Given the description of an element on the screen output the (x, y) to click on. 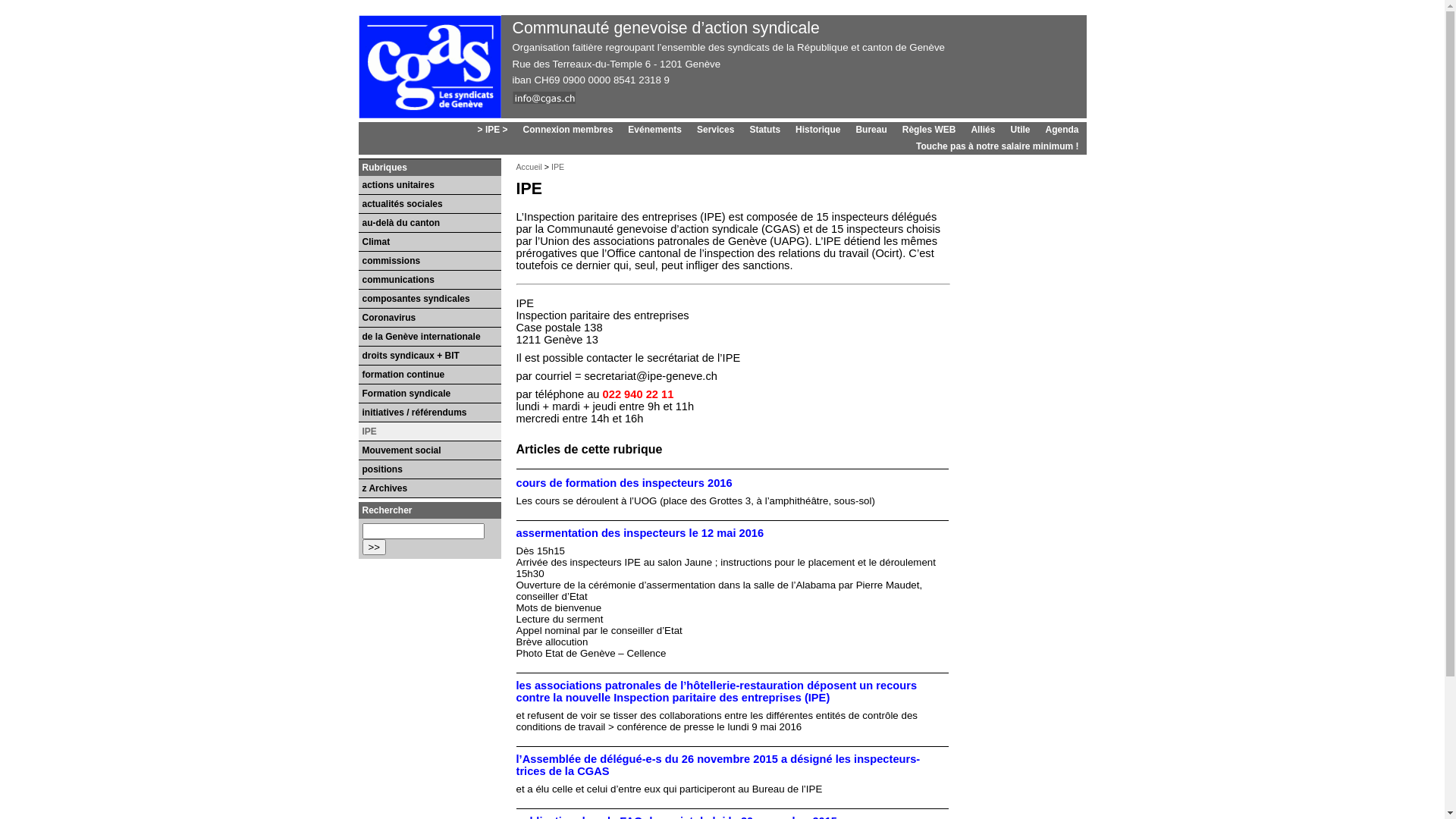
IPE Element type: text (557, 166)
actions unitaires Element type: text (428, 184)
Bureau Element type: text (870, 130)
positions Element type: text (428, 469)
Climat Element type: text (428, 241)
Historique Element type: text (817, 130)
> IPE > Element type: text (492, 130)
Mouvement social Element type: text (428, 450)
>> Element type: text (374, 547)
Rechercher Element type: hover (374, 547)
cours de formation des inspecteurs 2016 Element type: text (623, 482)
Statuts Element type: text (764, 130)
z Archives Element type: text (428, 488)
commissions Element type: text (428, 260)
Formation syndicale Element type: text (428, 393)
IPE Element type: text (428, 431)
Utile Element type: text (1019, 130)
Services Element type: text (715, 130)
Coronavirus Element type: text (428, 317)
communications Element type: text (428, 279)
droits syndicaux + BIT Element type: text (428, 355)
Accueil Element type: text (528, 166)
Connexion membres Element type: text (568, 130)
assermentation des inspecteurs le 12 mai 2016 Element type: text (639, 533)
composantes syndicales Element type: text (428, 298)
Agenda Element type: text (1061, 130)
formation continue Element type: text (428, 374)
